Given the description of an element on the screen output the (x, y) to click on. 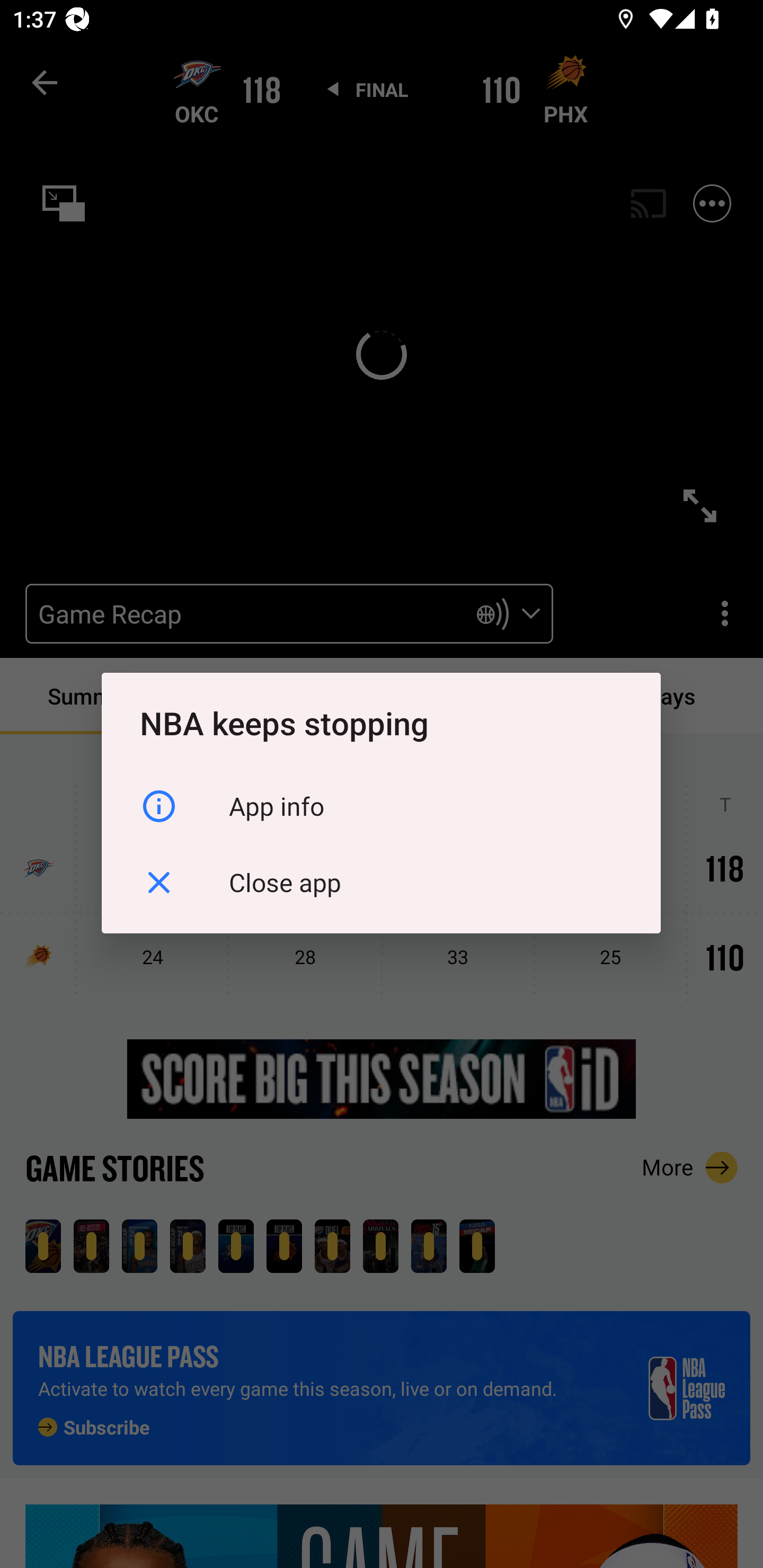
App info (380, 806)
Close app (380, 882)
